Given the description of an element on the screen output the (x, y) to click on. 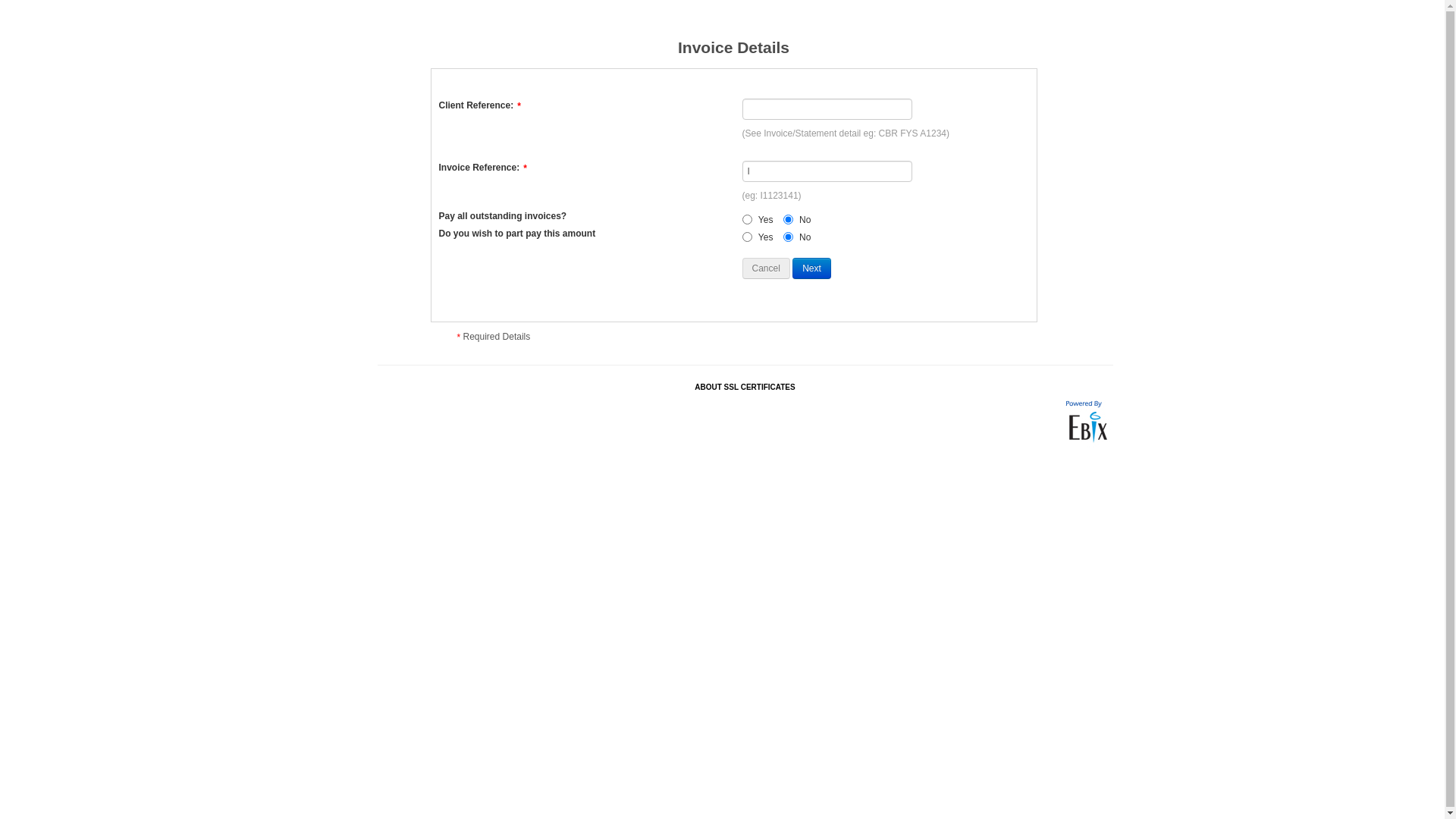
Cancel Element type: text (765, 268)
2.02.92 Element type: hover (1085, 420)
Next Element type: text (811, 268)
ABOUT SSL CERTIFICATES Element type: text (744, 386)
